Given the description of an element on the screen output the (x, y) to click on. 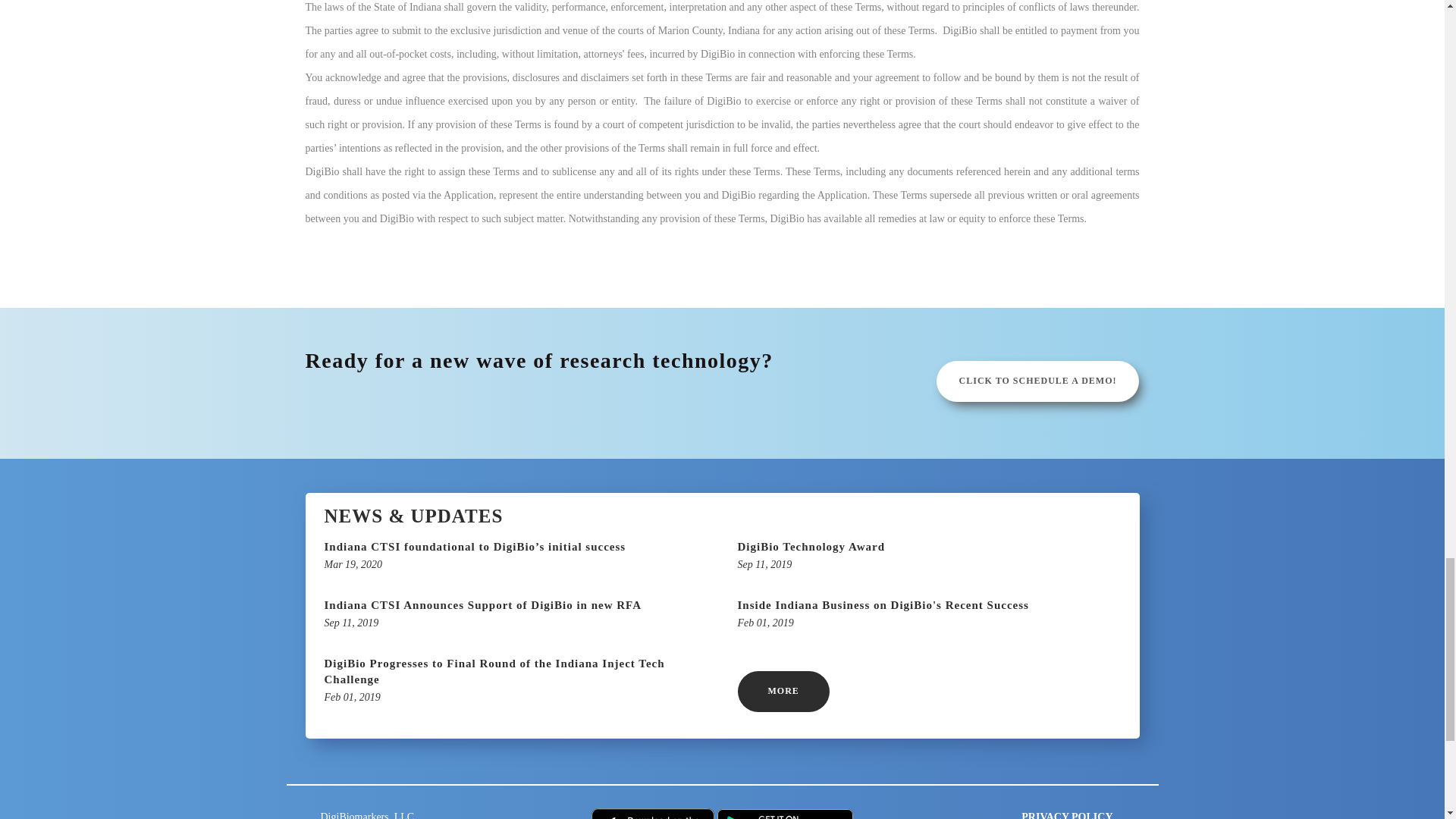
MORE (782, 690)
PRIVACY POLICY (1067, 815)
CLICK TO SCHEDULE A DEMO! (927, 556)
